Given the description of an element on the screen output the (x, y) to click on. 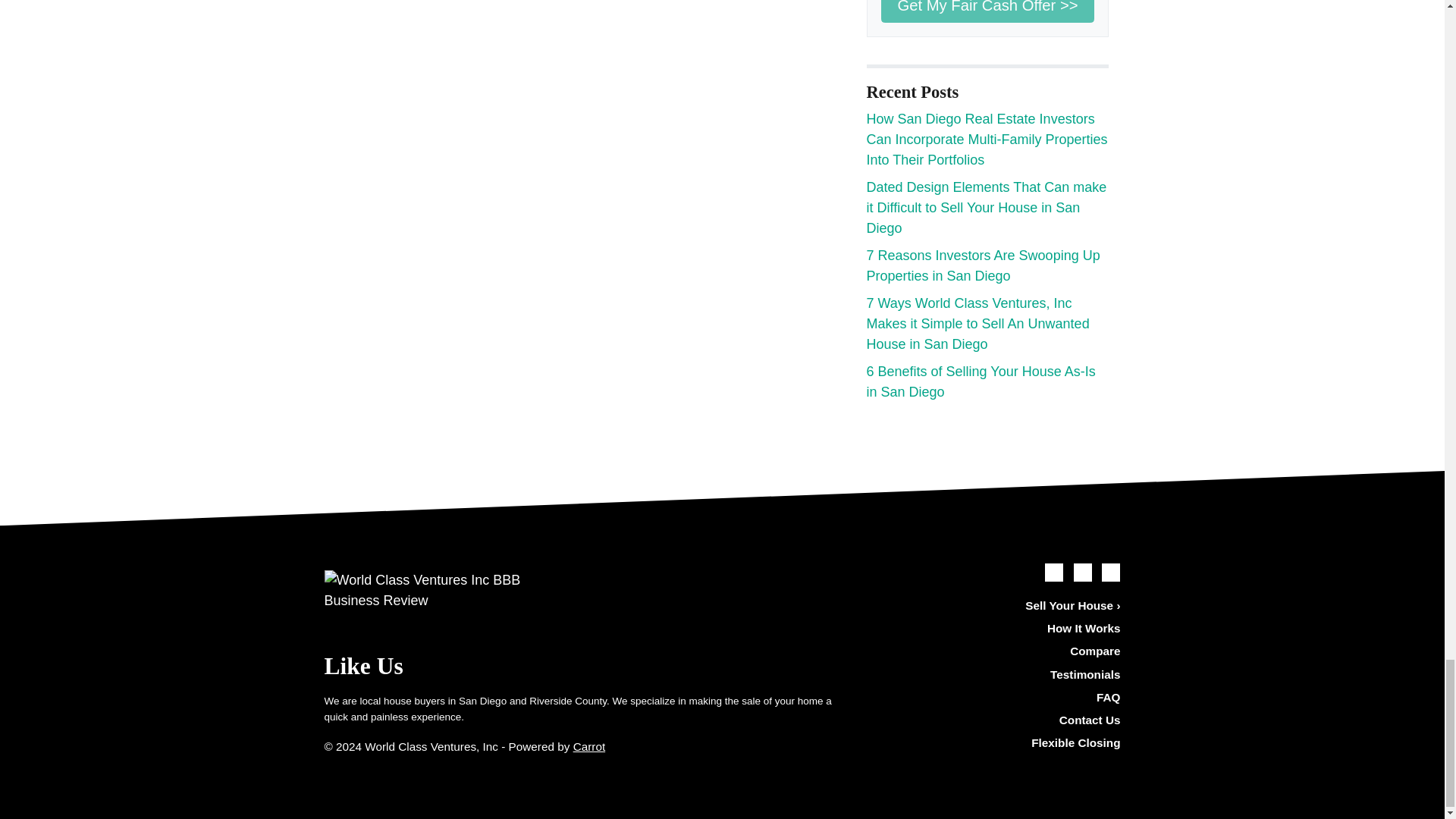
7 Reasons Investors Are Swooping Up Properties in San Diego (982, 265)
F (995, 743)
Facebook (1053, 572)
YouTube (1083, 572)
6 Benefits of Selling Your House As-Is in San Diego (980, 381)
LinkedIn (1110, 572)
